Given the description of an element on the screen output the (x, y) to click on. 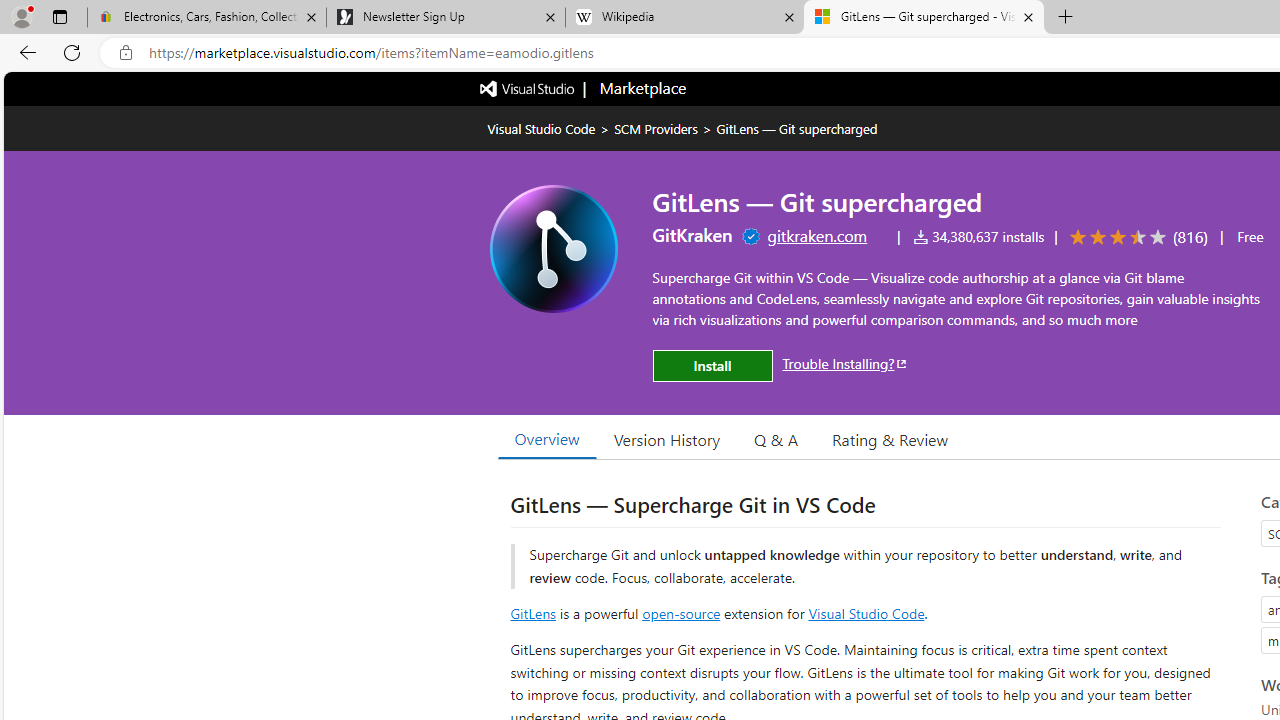
open-source (681, 612)
SCM Providers (655, 128)
Overview (546, 439)
Install (712, 365)
Rating & Review (890, 439)
gitkraken.com (816, 235)
Visual Studio logo Marketplace logo (582, 88)
Q & A (776, 439)
